Given the description of an element on the screen output the (x, y) to click on. 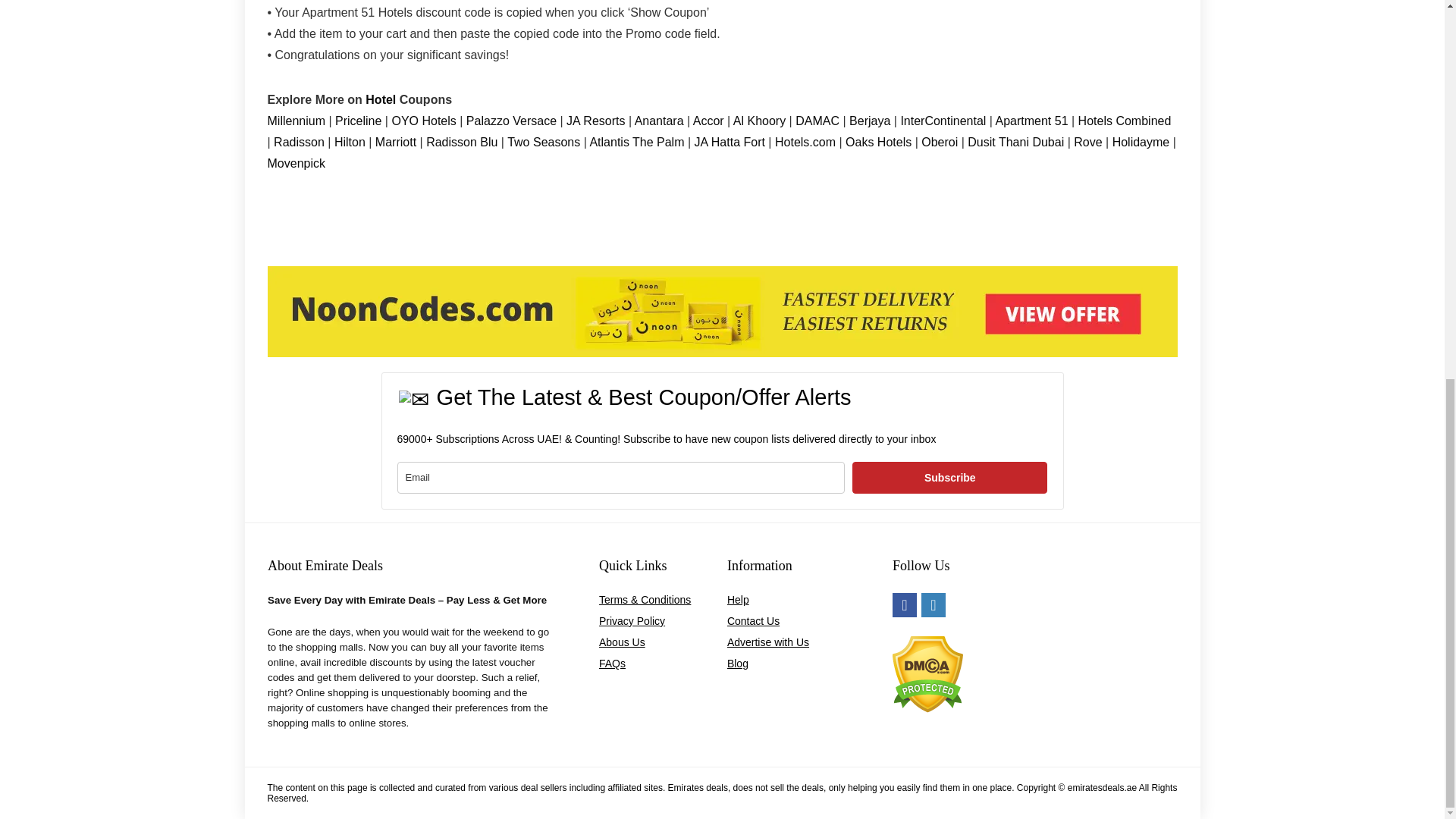
Apartment 51 (1030, 120)
Anantara (660, 120)
Palazzo Versace (510, 120)
Priceline (359, 120)
DMCA.com Protection Status (927, 643)
JA Hatta Fort (727, 141)
Accor (709, 120)
Hotels Combined (1125, 120)
Millennium (297, 120)
Facebook (904, 604)
